Given the description of an element on the screen output the (x, y) to click on. 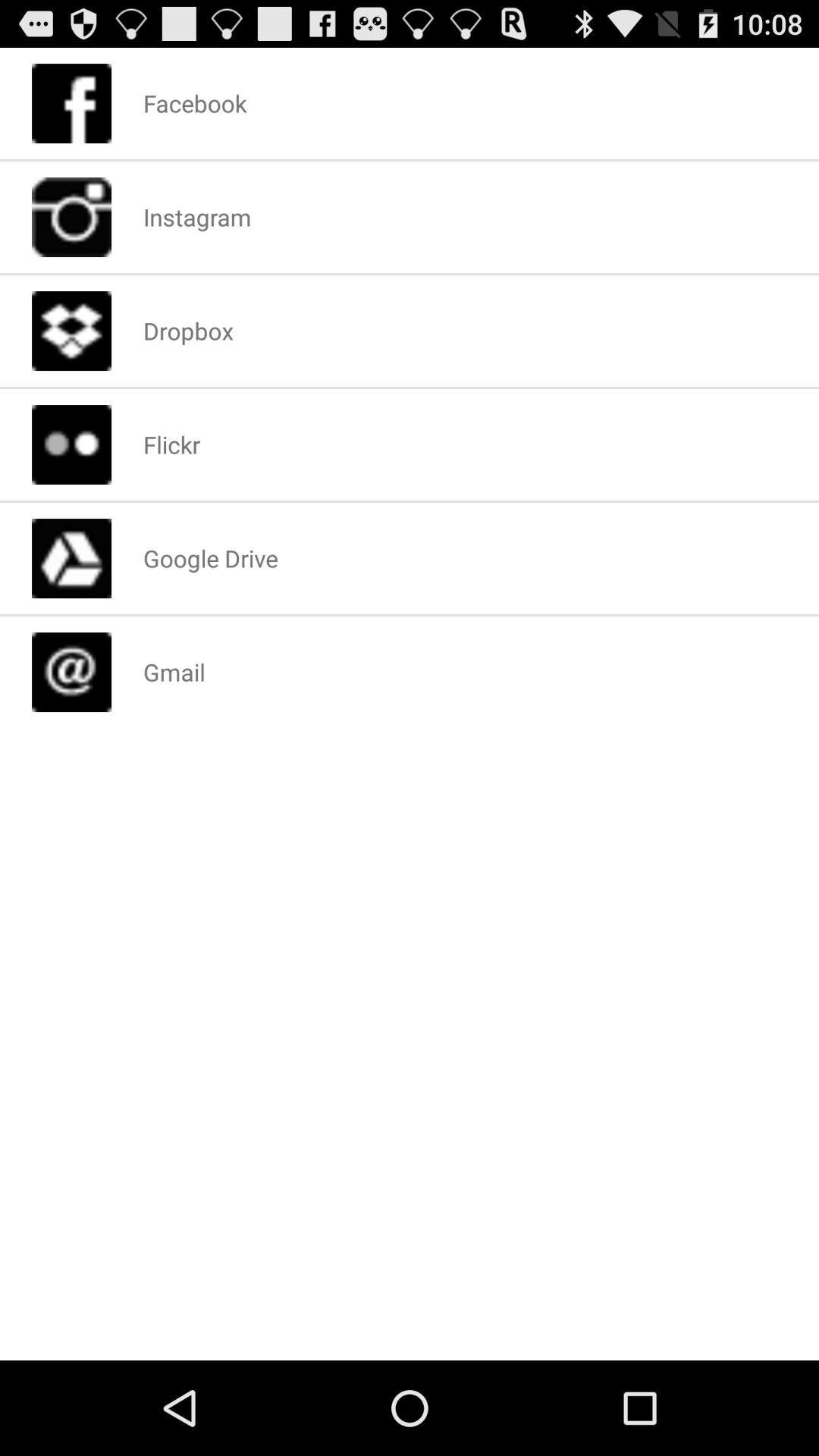
turn off app below the google drive app (174, 671)
